Given the description of an element on the screen output the (x, y) to click on. 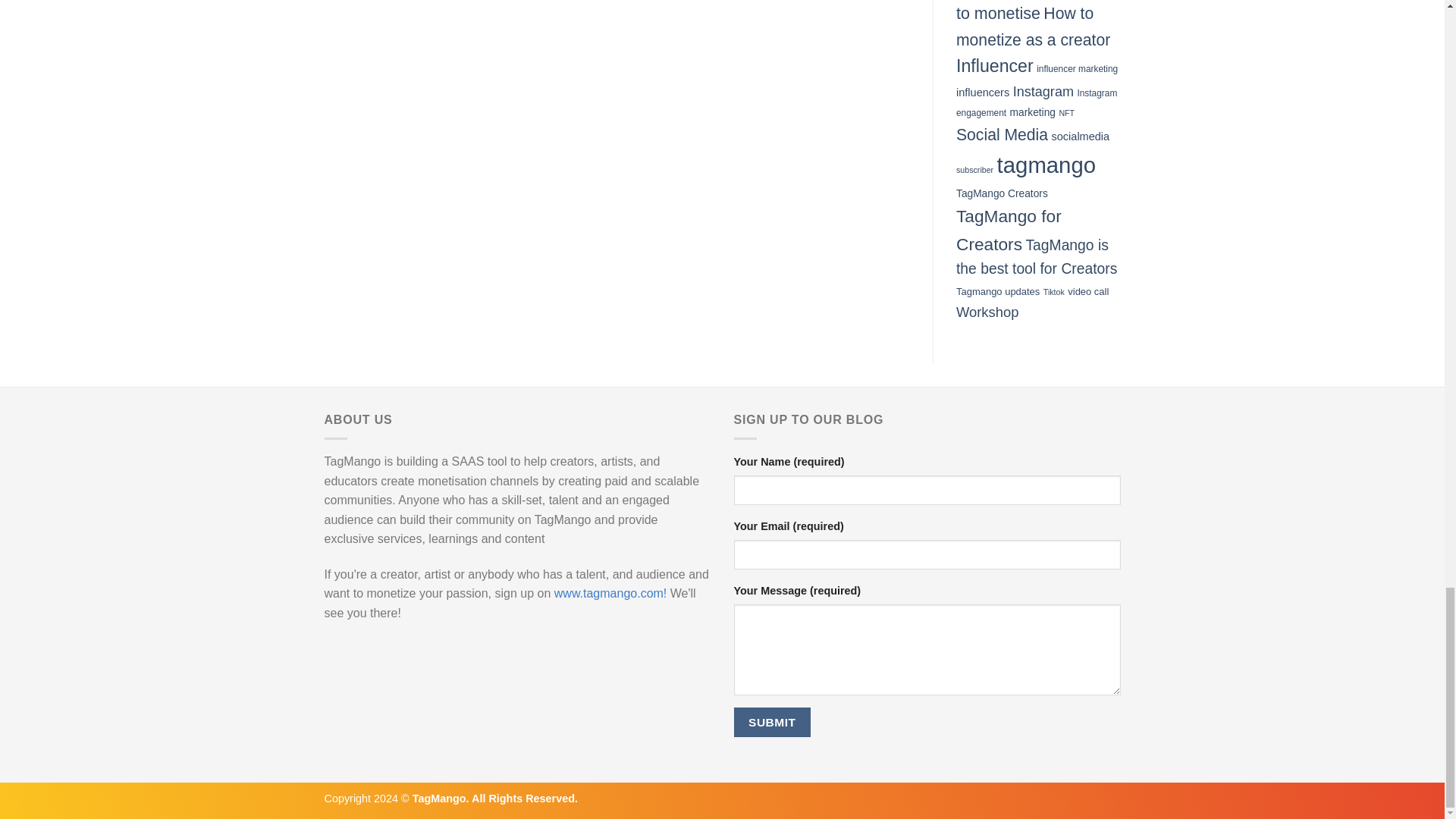
Submit (771, 722)
